Given the description of an element on the screen output the (x, y) to click on. 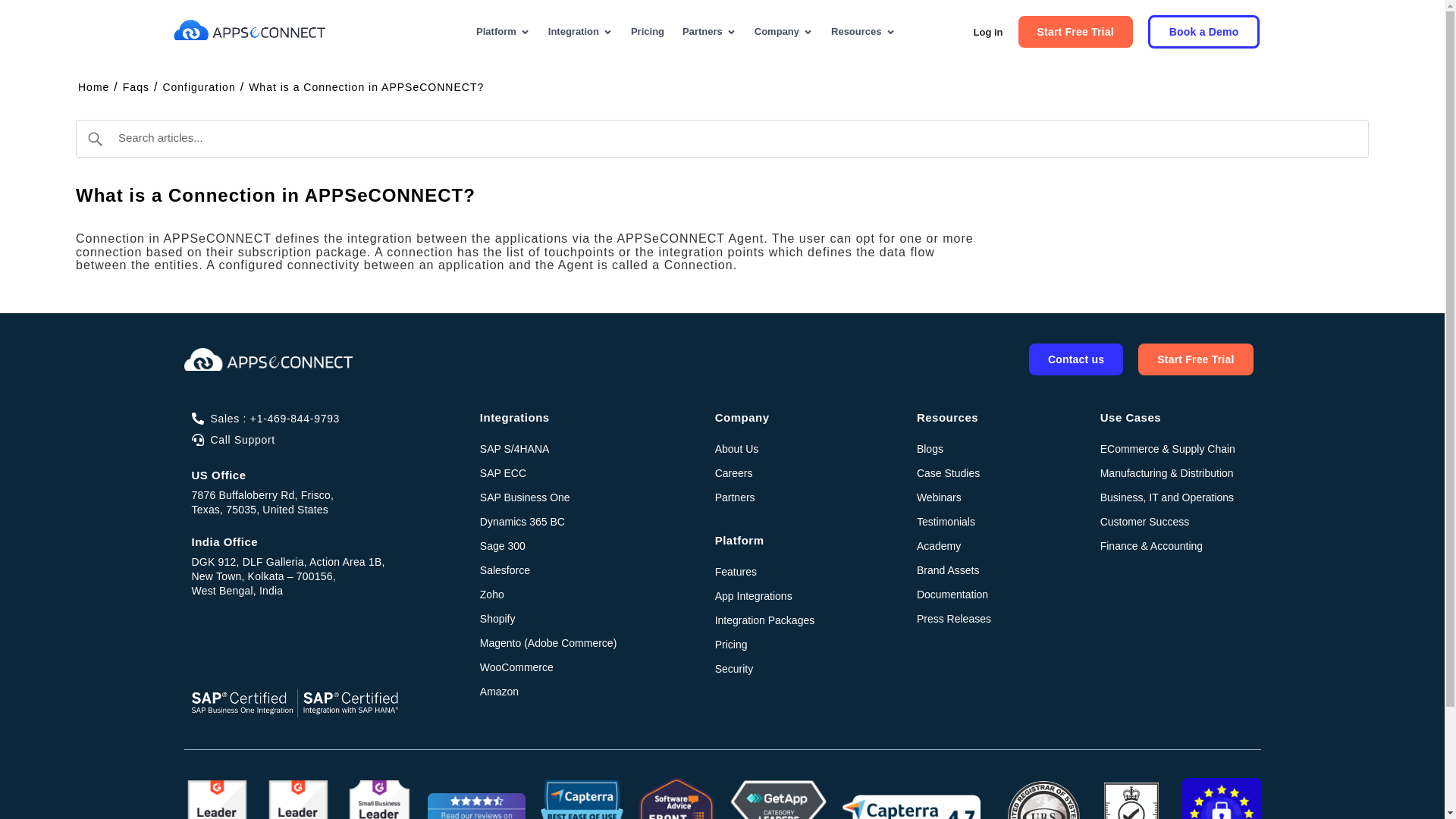
Search articles... (721, 138)
